Given the description of an element on the screen output the (x, y) to click on. 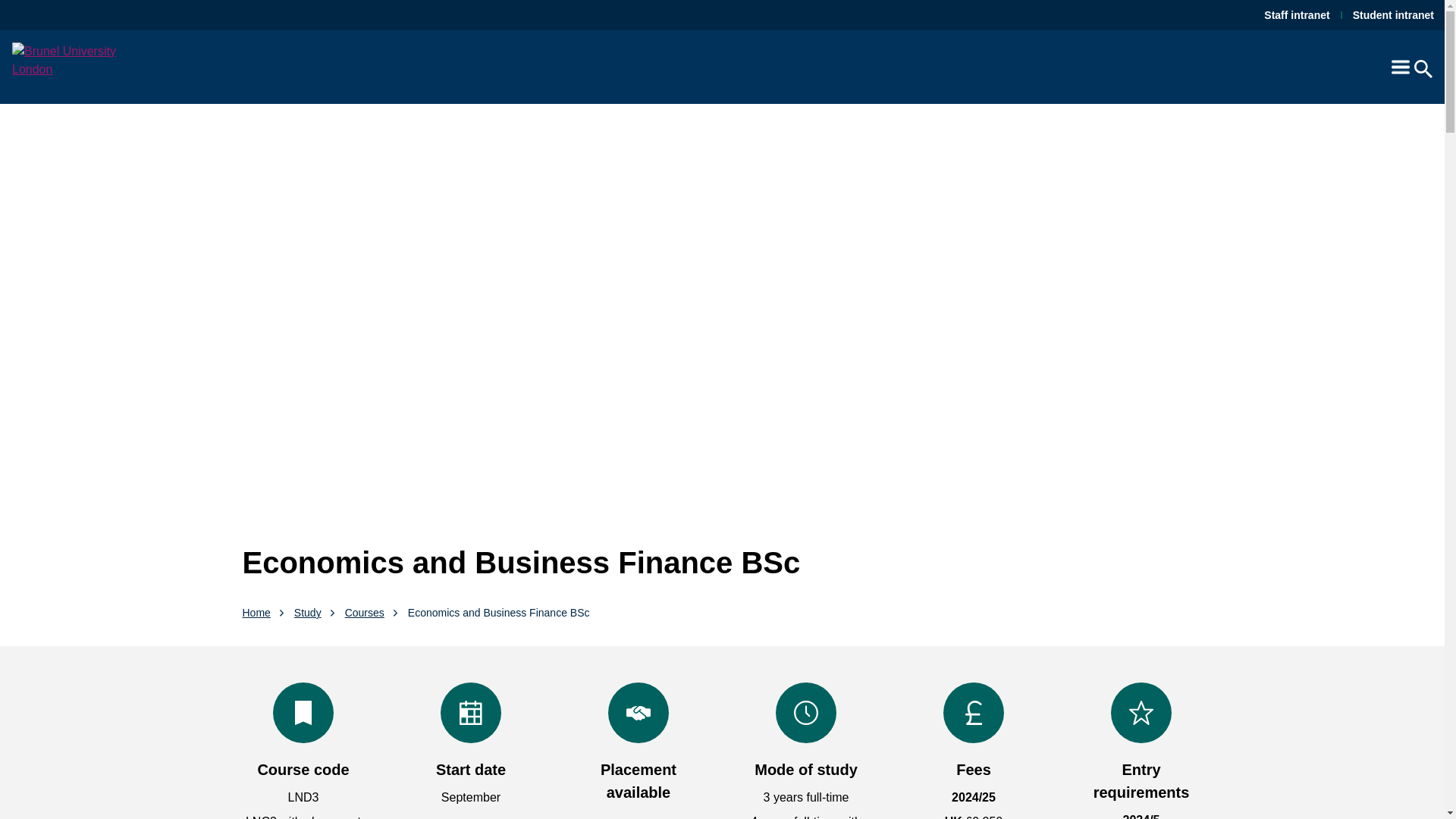
Skip to main content (12, 9)
Staff intranet (1296, 15)
Home (256, 612)
Open search (1422, 67)
Courses (364, 612)
Student intranet (1393, 15)
Study (307, 612)
